Given the description of an element on the screen output the (x, y) to click on. 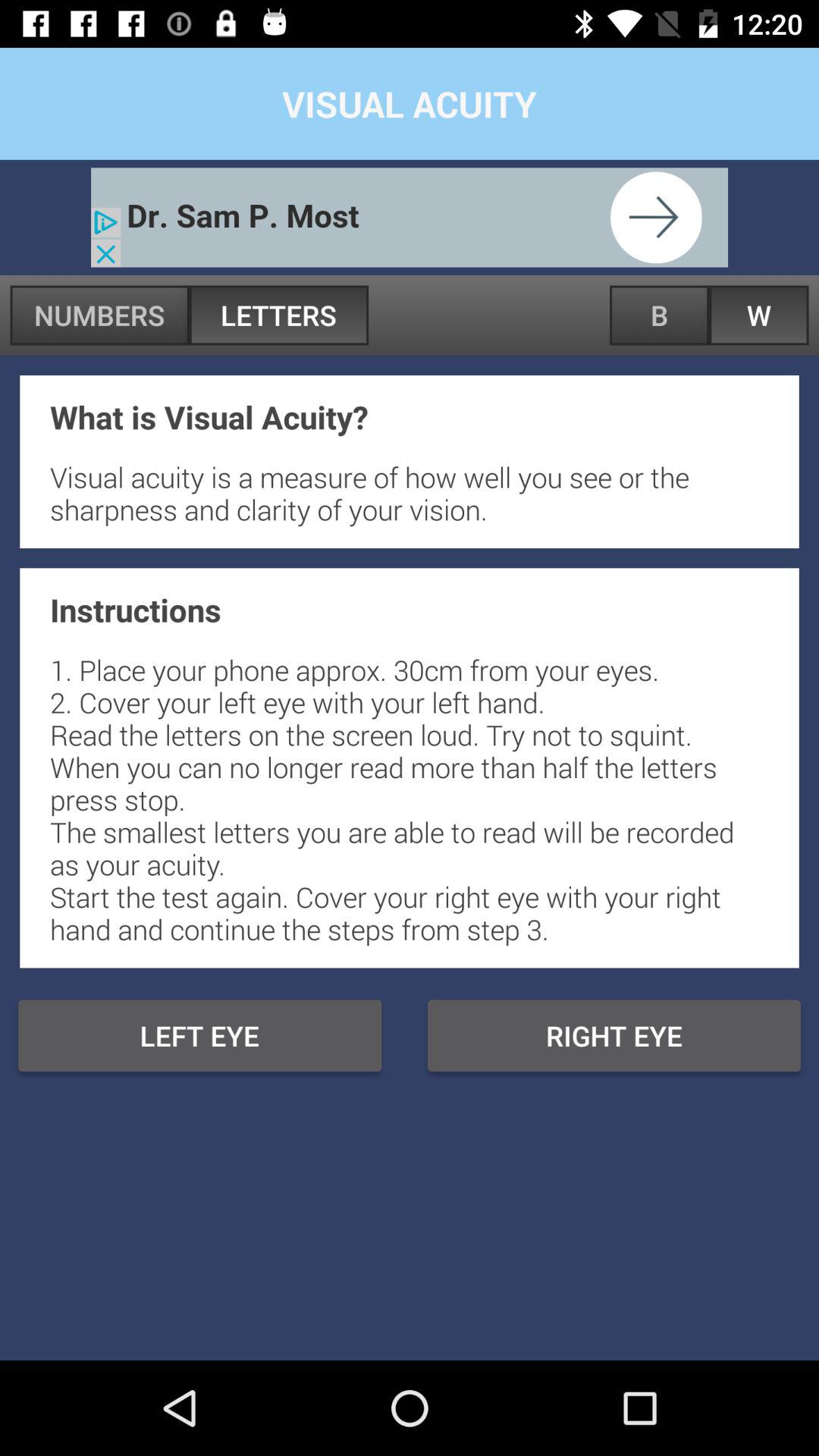
go to external advertisement (409, 217)
